Given the description of an element on the screen output the (x, y) to click on. 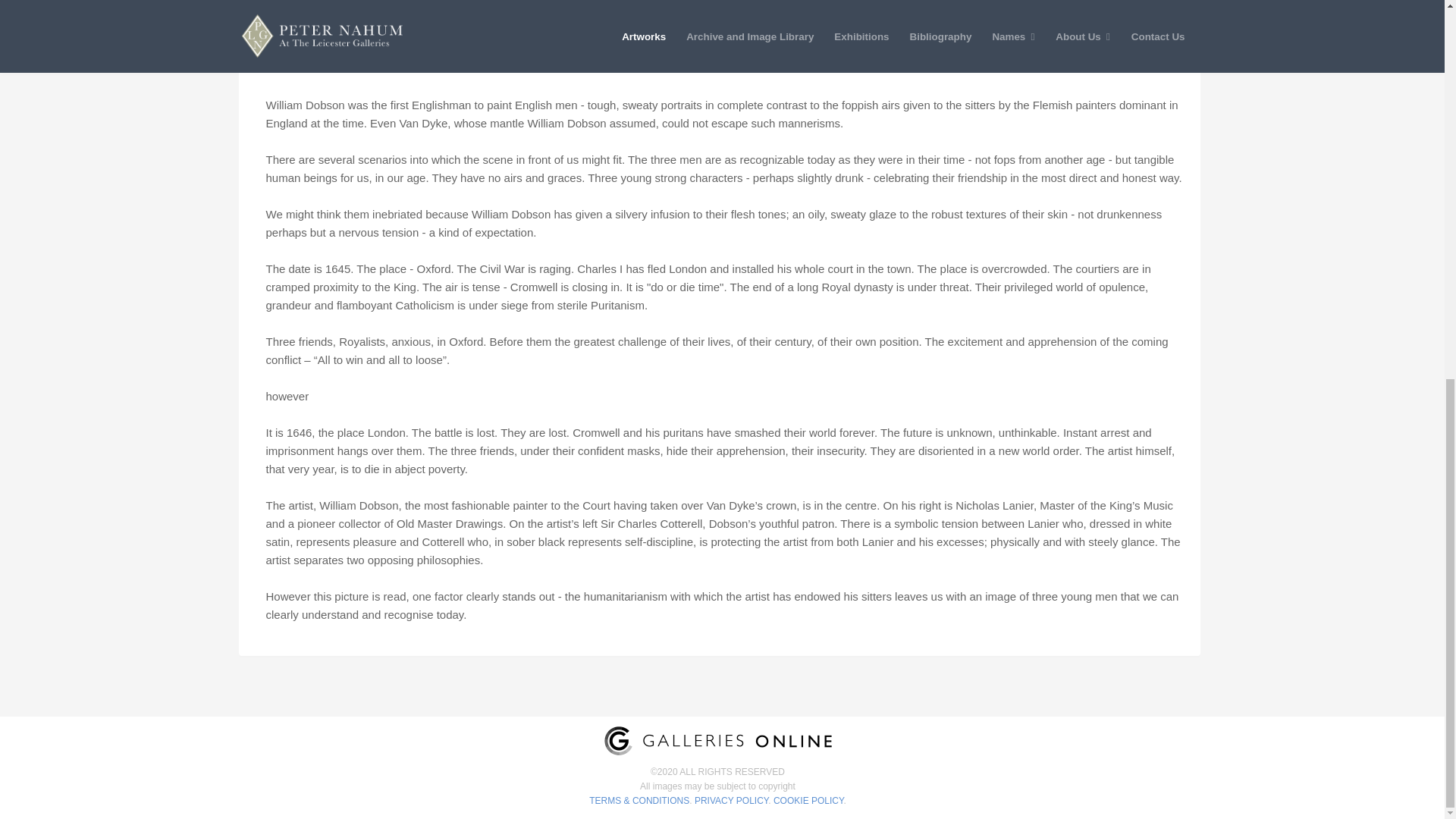
COOKIE POLICY (808, 800)
Bibliography (549, 50)
PRIVACY POLICY (731, 800)
Provenance (373, 50)
Expertise (291, 50)
Exhibitions (460, 50)
